Given the description of an element on the screen output the (x, y) to click on. 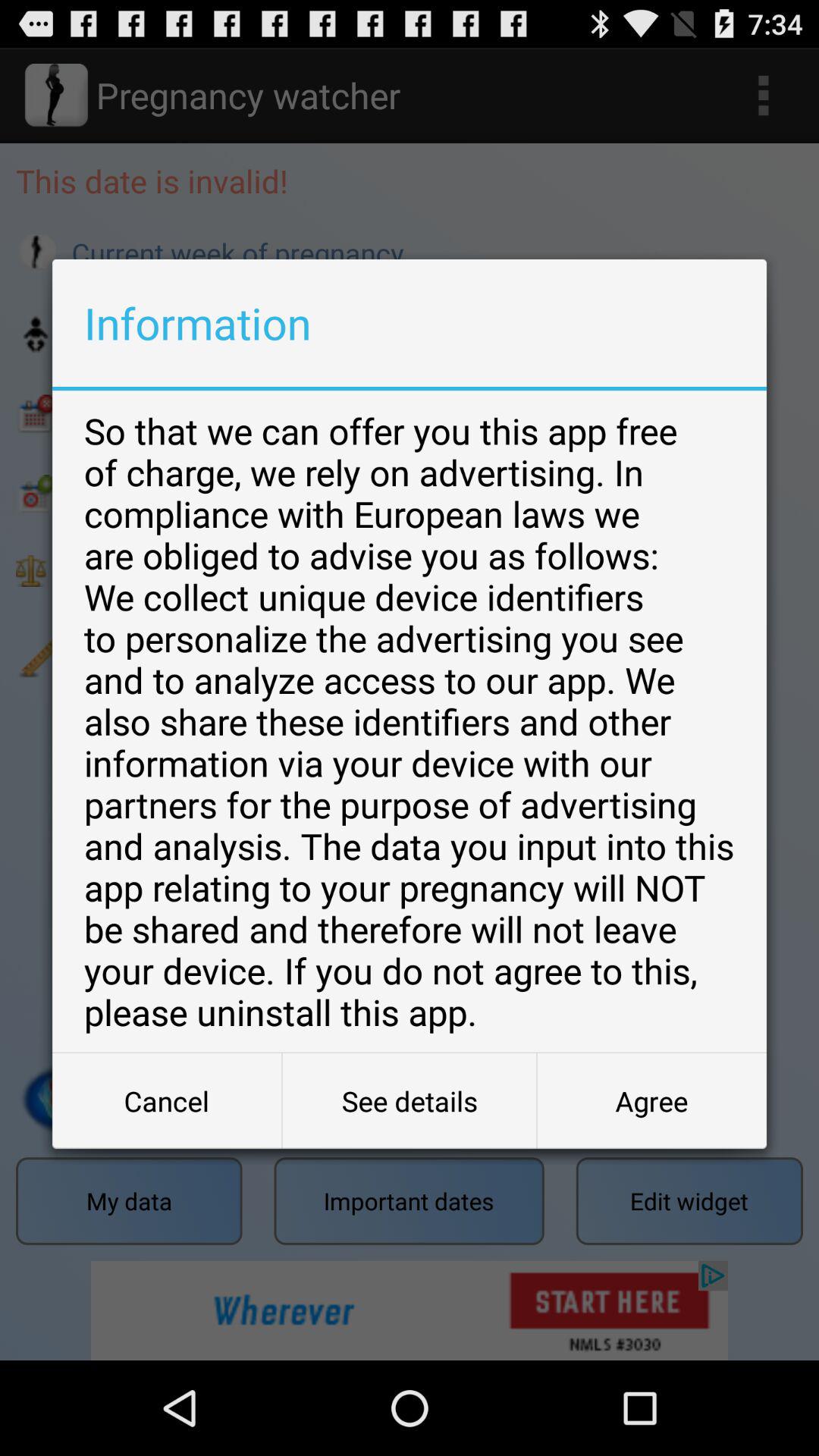
turn off the see details (409, 1100)
